Given the description of an element on the screen output the (x, y) to click on. 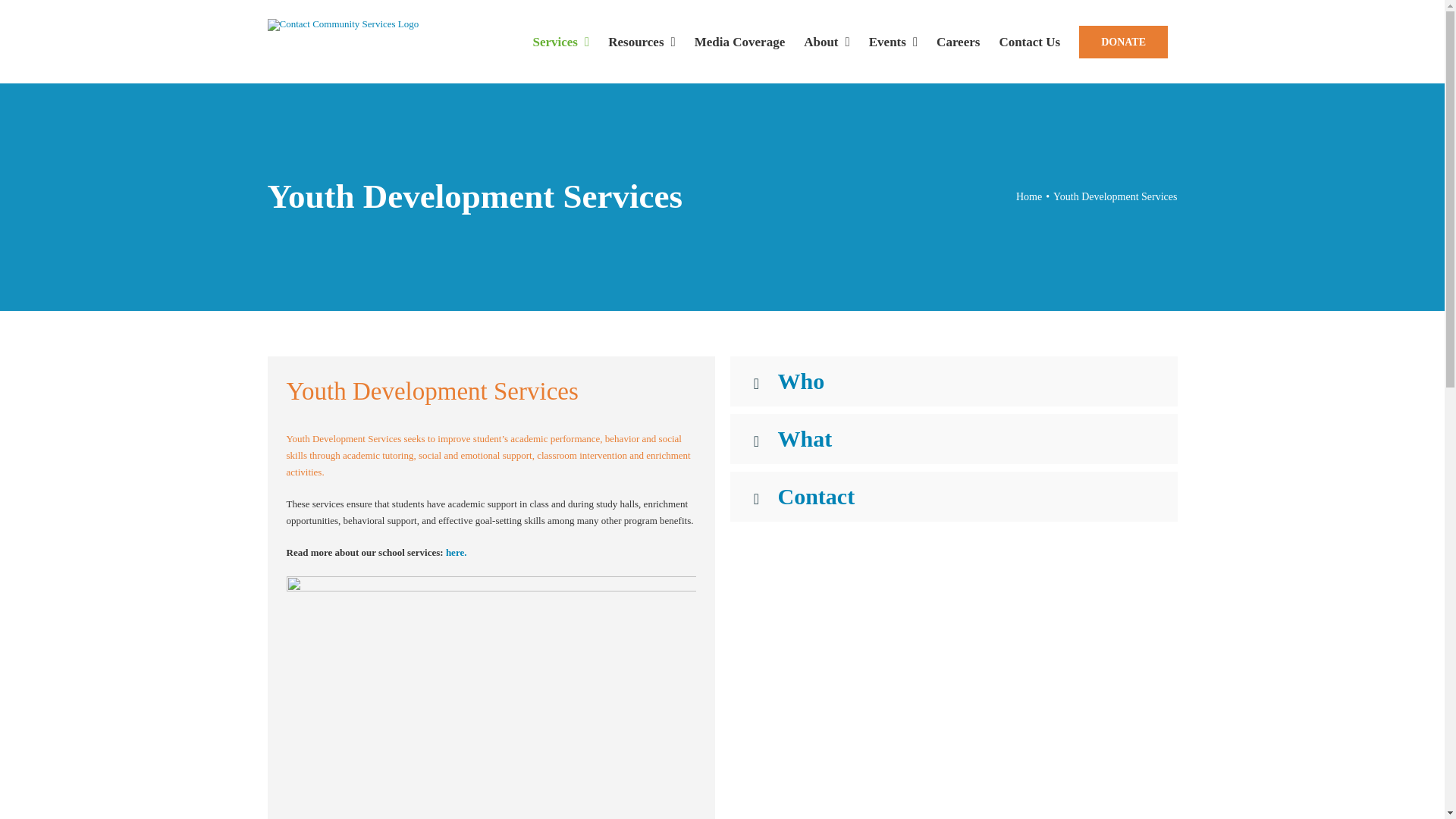
Home (1029, 196)
Events (892, 41)
DONATE (1123, 41)
About (827, 41)
Elementary classroom (490, 697)
Resources (641, 41)
Media Coverage (738, 41)
Contact Us (1030, 41)
here.  (456, 552)
Careers (958, 41)
